Given the description of an element on the screen output the (x, y) to click on. 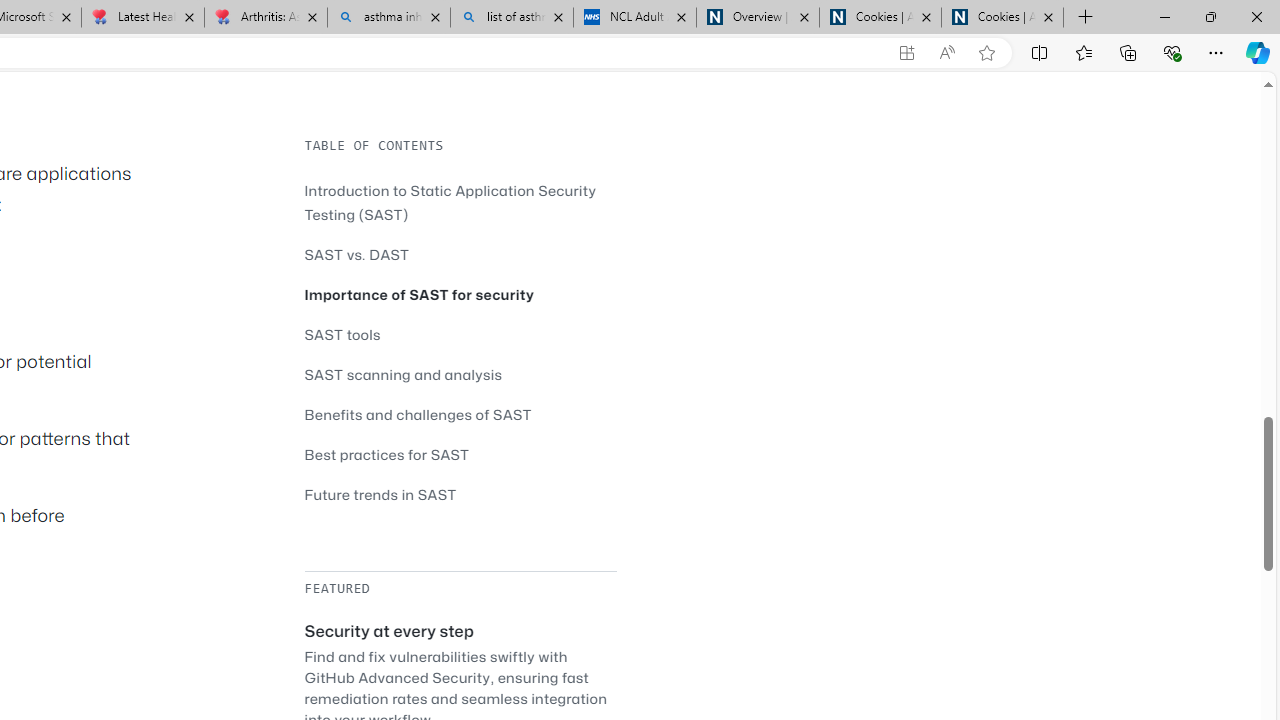
SAST vs. DAST (460, 254)
Importance of SAST for security (419, 294)
Future trends in SAST (460, 493)
App available. Install GitHub (906, 53)
Importance of SAST for security (460, 294)
asthma inhaler - Search (388, 17)
Best practices for SAST (386, 453)
Introduction to Static Application Security Testing (SAST) (450, 202)
SAST scanning and analysis (403, 374)
Benefits and challenges of SAST (460, 413)
